Given the description of an element on the screen output the (x, y) to click on. 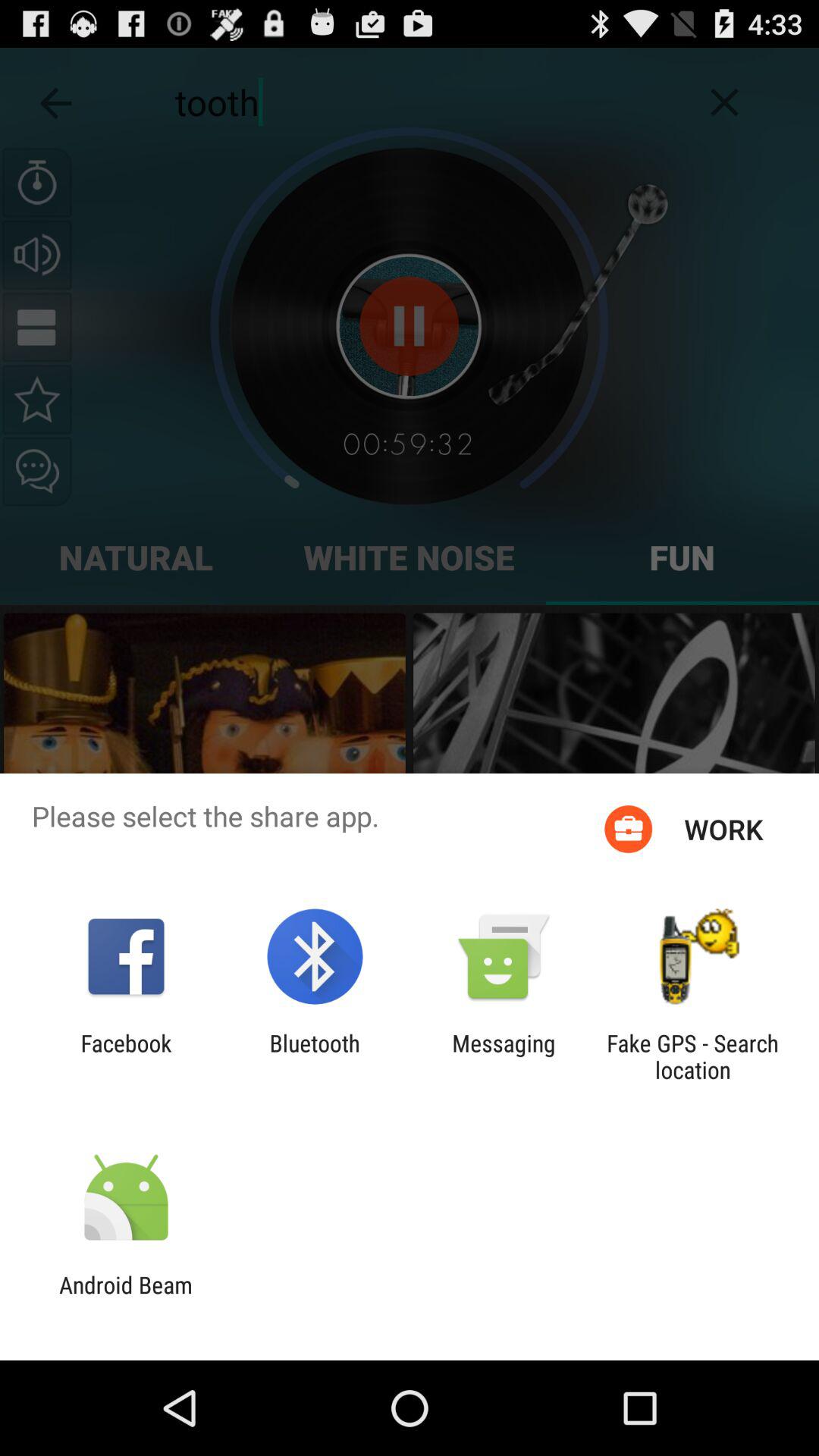
select the facebook item (125, 1056)
